Given the description of an element on the screen output the (x, y) to click on. 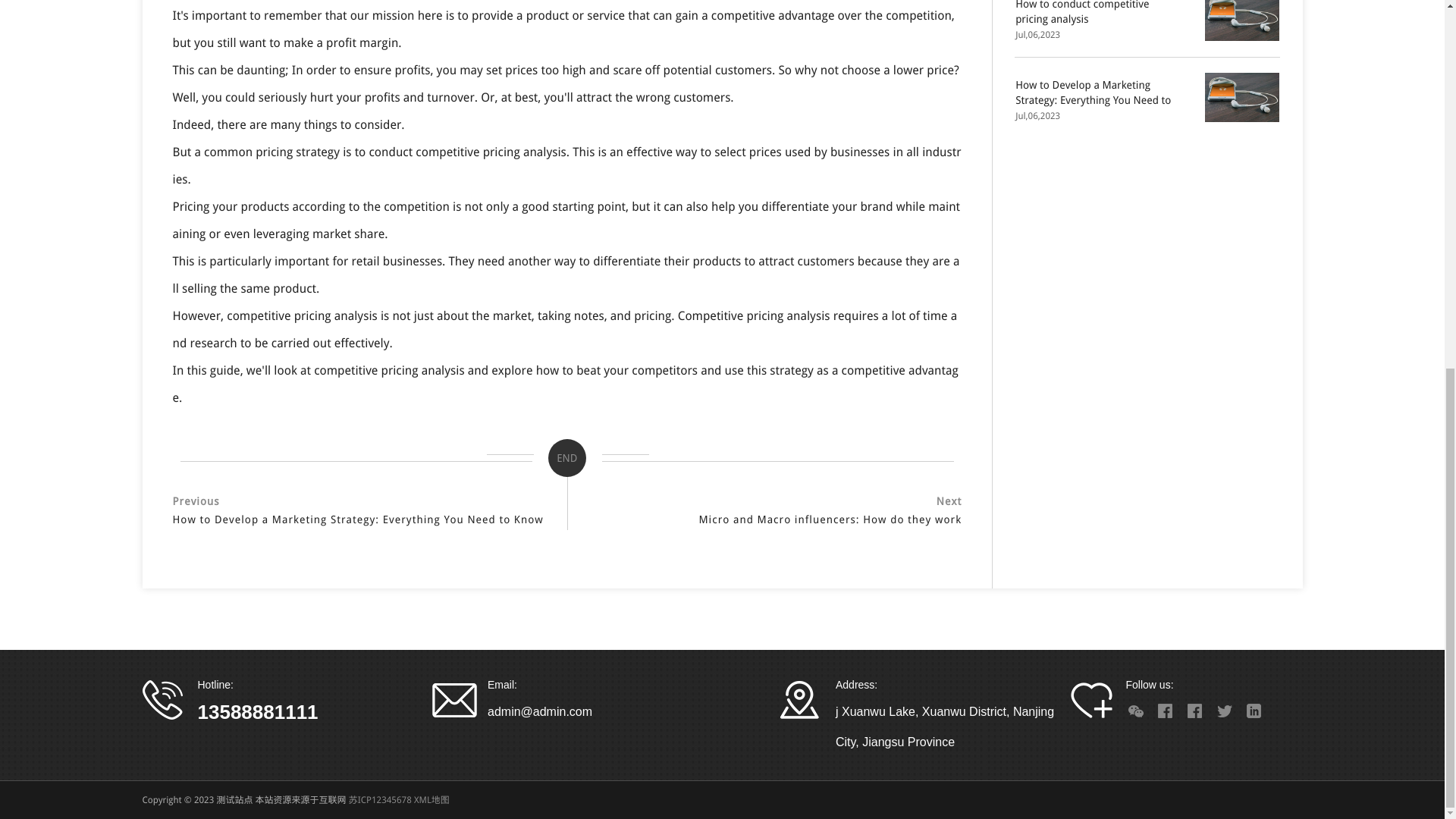
Micro and Macro influencers: How do they work (772, 519)
